Given the description of an element on the screen output the (x, y) to click on. 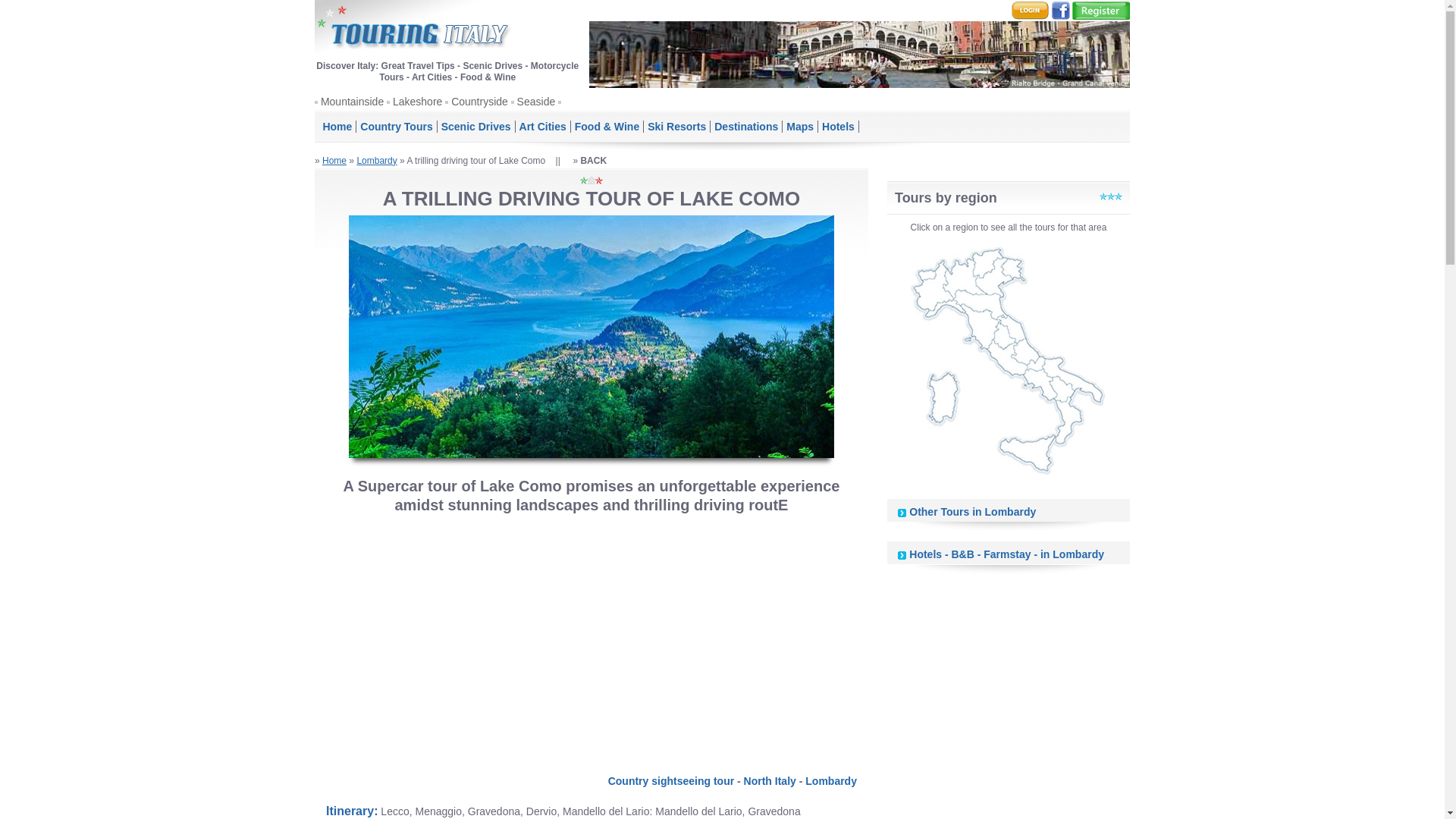
Advertisement (590, 639)
North Italy (770, 780)
Other Tours in Lombardy (971, 511)
Follow us on Facebook (1060, 9)
Destinations (745, 126)
Art Cities (542, 126)
Home (333, 160)
BACK (593, 160)
Login (1029, 9)
Scenic Drives (476, 126)
